Given the description of an element on the screen output the (x, y) to click on. 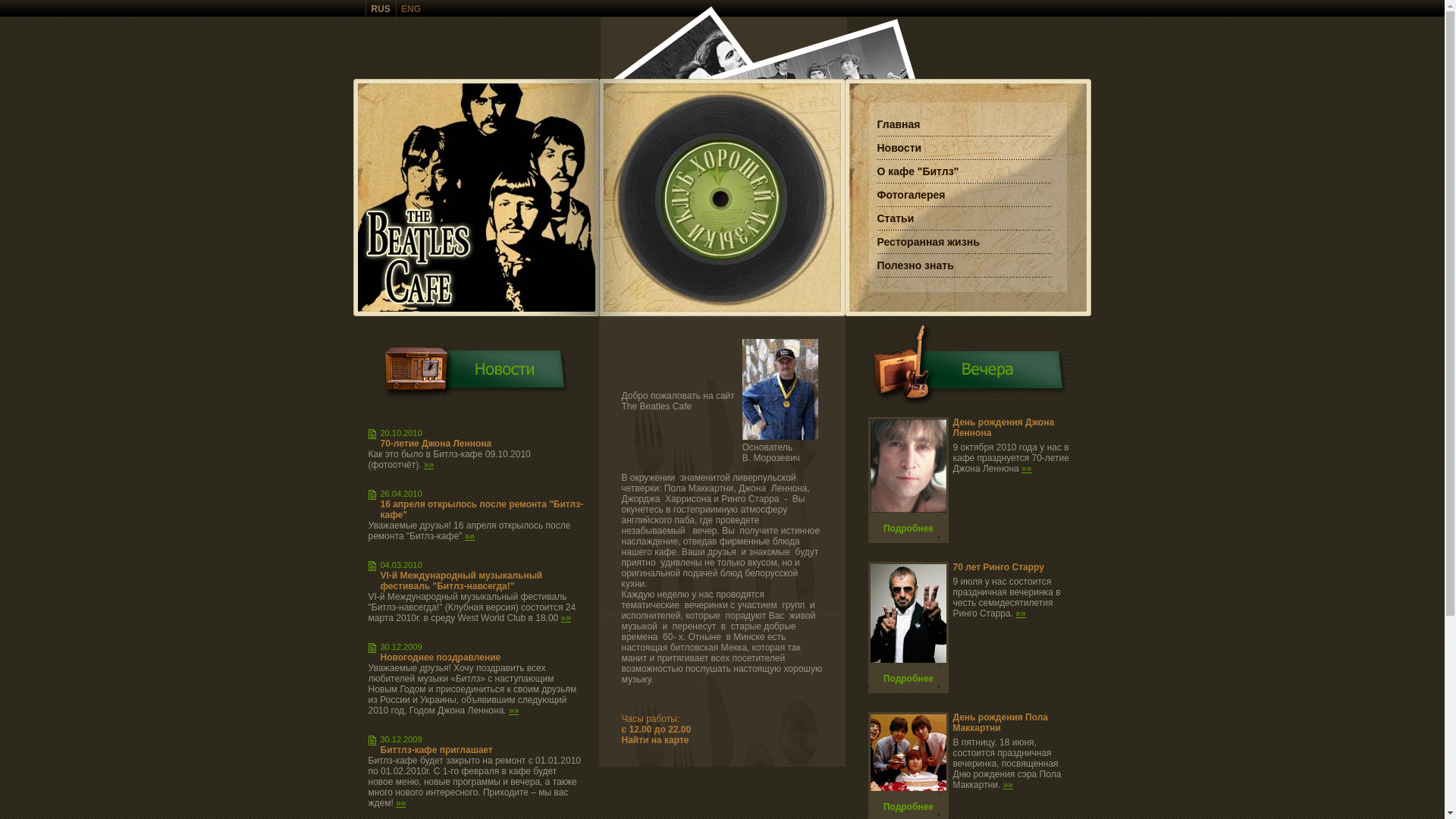
30.12.2009 Element type: text (401, 738)
04.03.2010 Element type: text (401, 564)
26.04.2010 Element type: text (401, 493)
20.10.2010 Element type: text (401, 432)
ENG Element type: text (410, 8)
30.12.2009 Element type: text (401, 646)
